Given the description of an element on the screen output the (x, y) to click on. 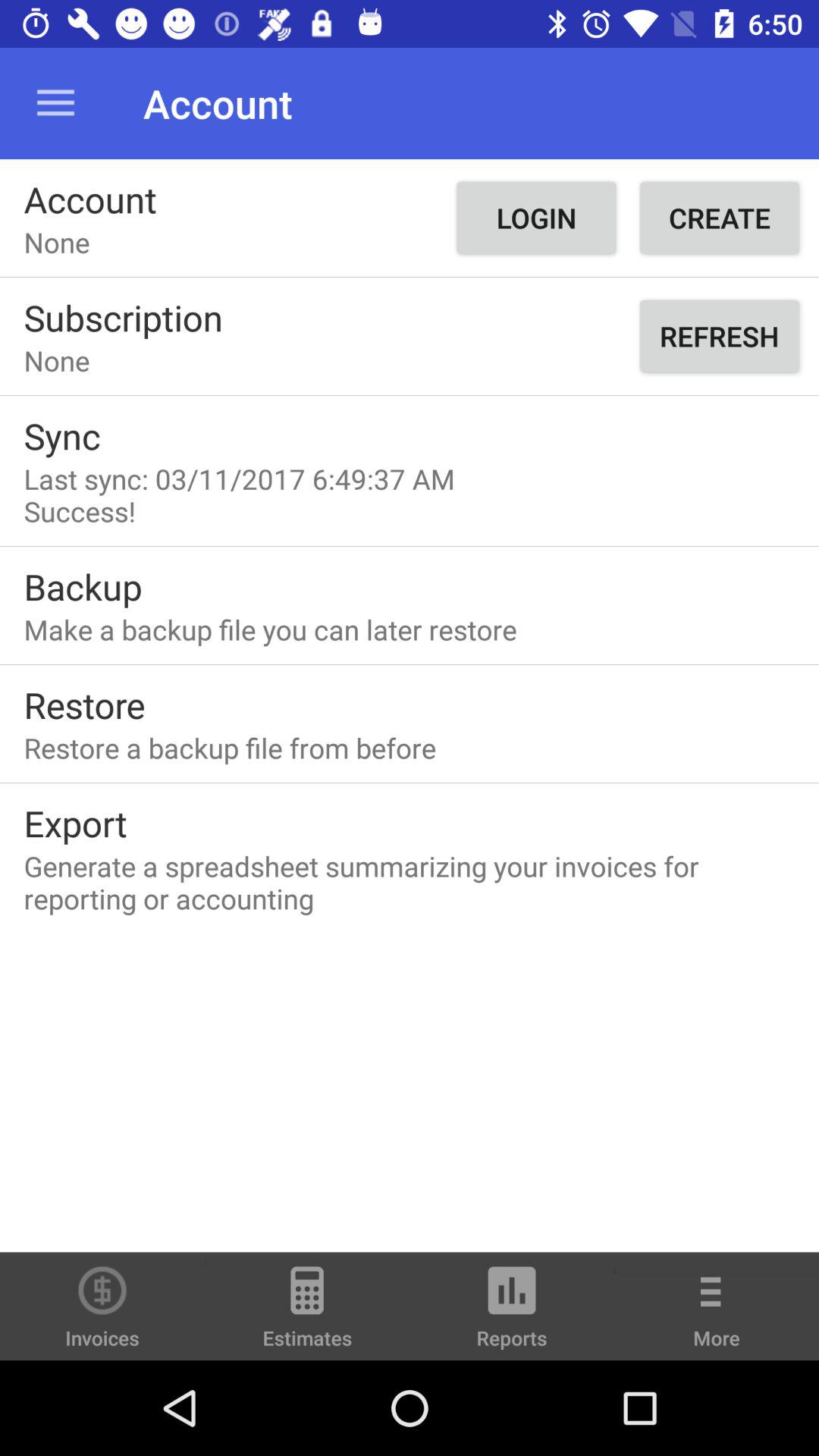
jump to the create icon (719, 217)
